Given the description of an element on the screen output the (x, y) to click on. 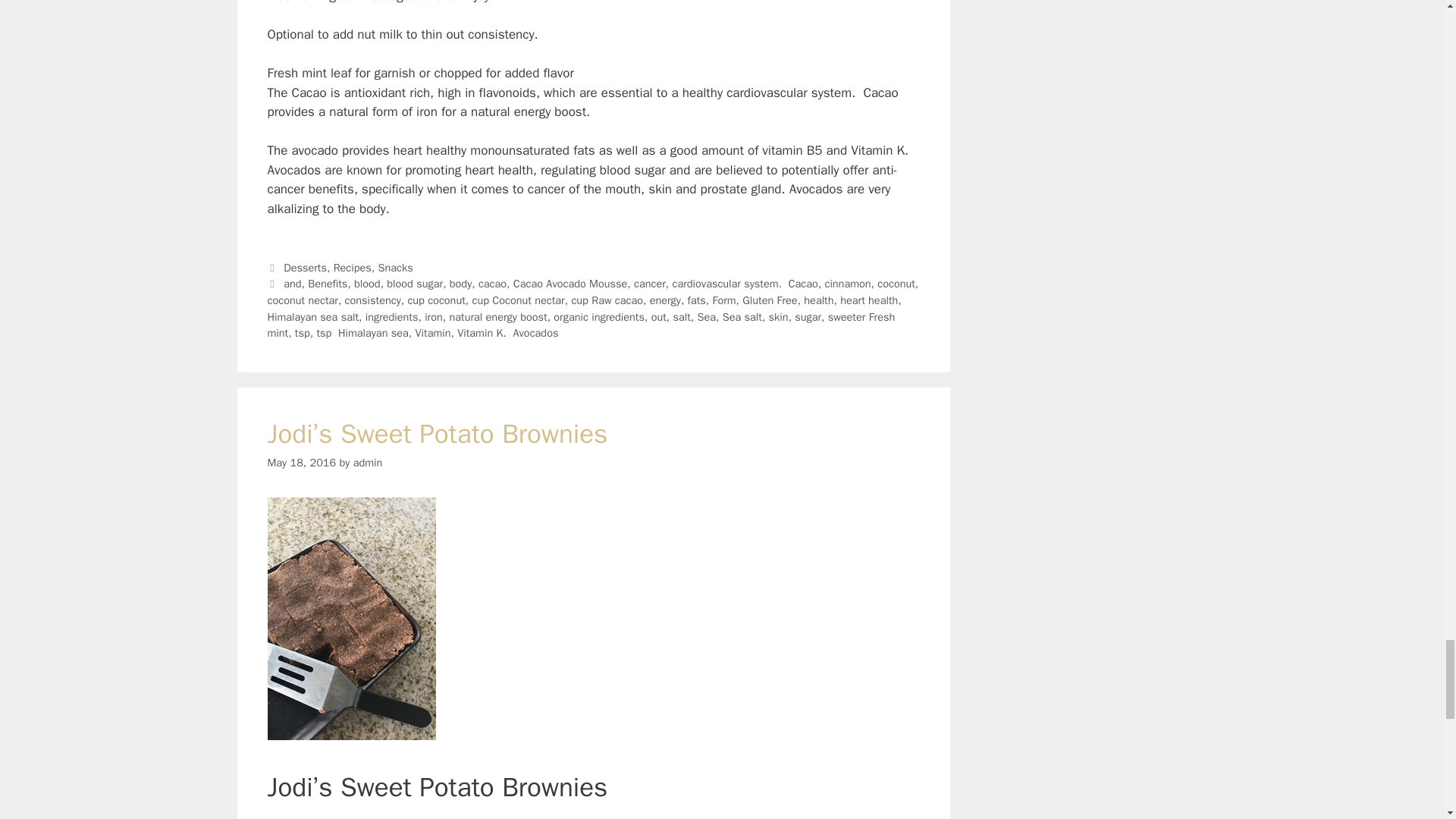
View all posts by admin (367, 462)
